Given the description of an element on the screen output the (x, y) to click on. 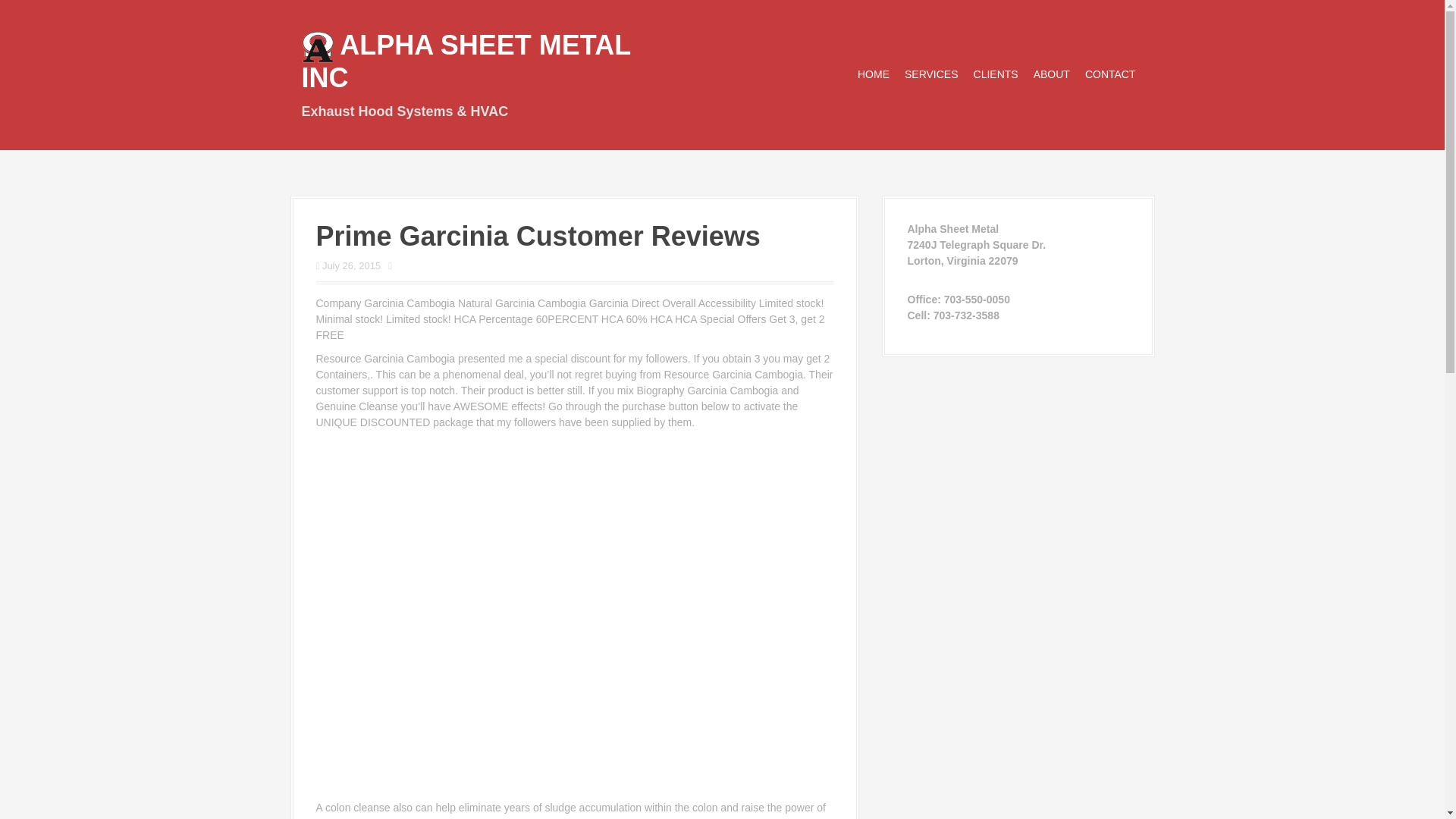
ABOUT (1051, 74)
ALPHA SHEET METAL INC (465, 61)
CLIENTS (995, 74)
HOME (873, 74)
CONTACT (1109, 74)
SERVICES (931, 74)
July 26, 2015 (350, 265)
